Given the description of an element on the screen output the (x, y) to click on. 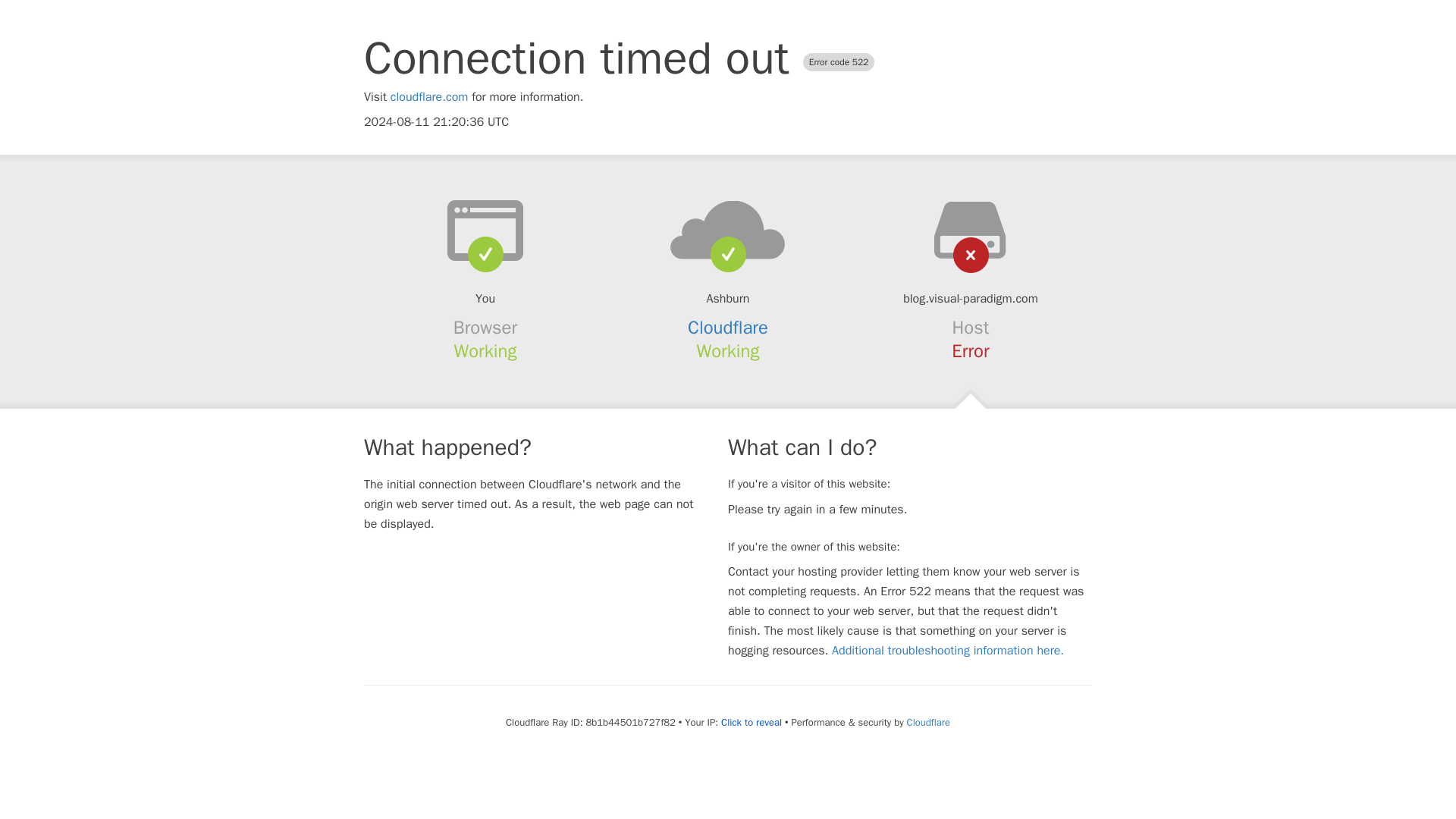
Cloudflare (928, 721)
Cloudflare (727, 327)
cloudflare.com (429, 96)
Click to reveal (750, 722)
Additional troubleshooting information here. (947, 650)
